Given the description of an element on the screen output the (x, y) to click on. 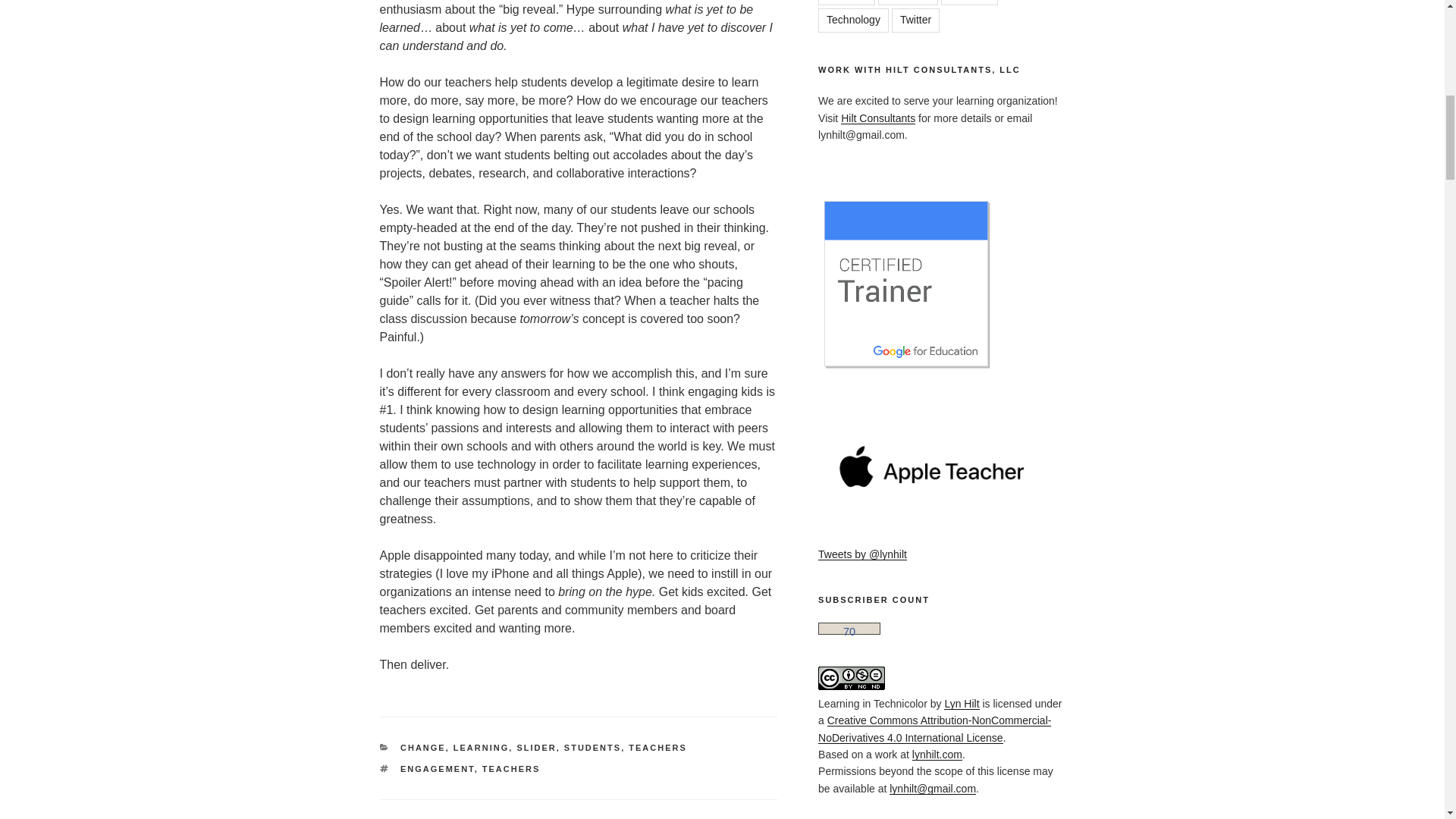
TEACHERS (510, 768)
ENGAGEMENT (437, 768)
TEACHERS (657, 747)
LEARNING (480, 747)
STUDENTS (592, 747)
SLIDER (536, 747)
CHANGE (422, 747)
